Given the description of an element on the screen output the (x, y) to click on. 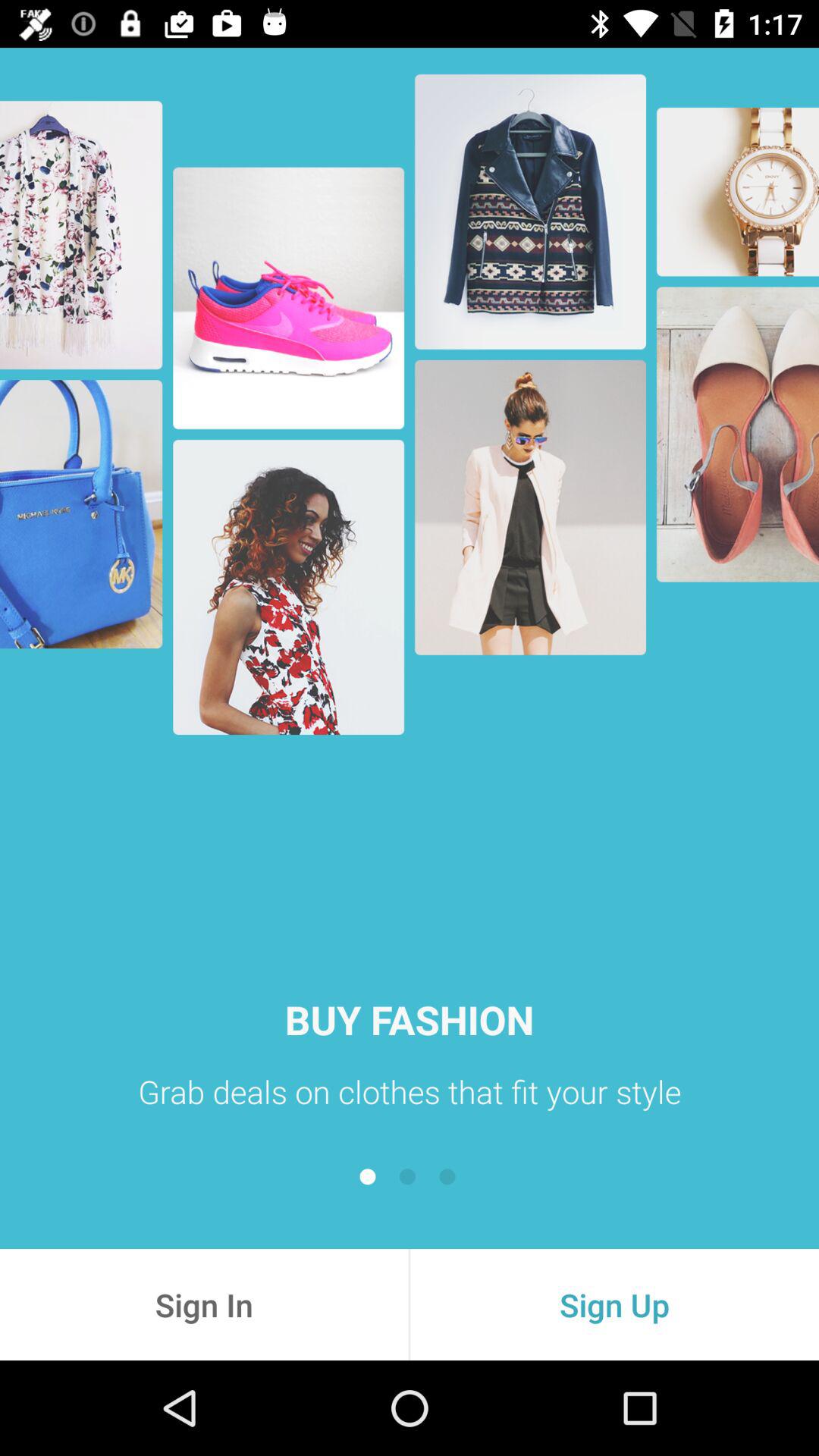
select item to the right of the sign in item (614, 1304)
